Given the description of an element on the screen output the (x, y) to click on. 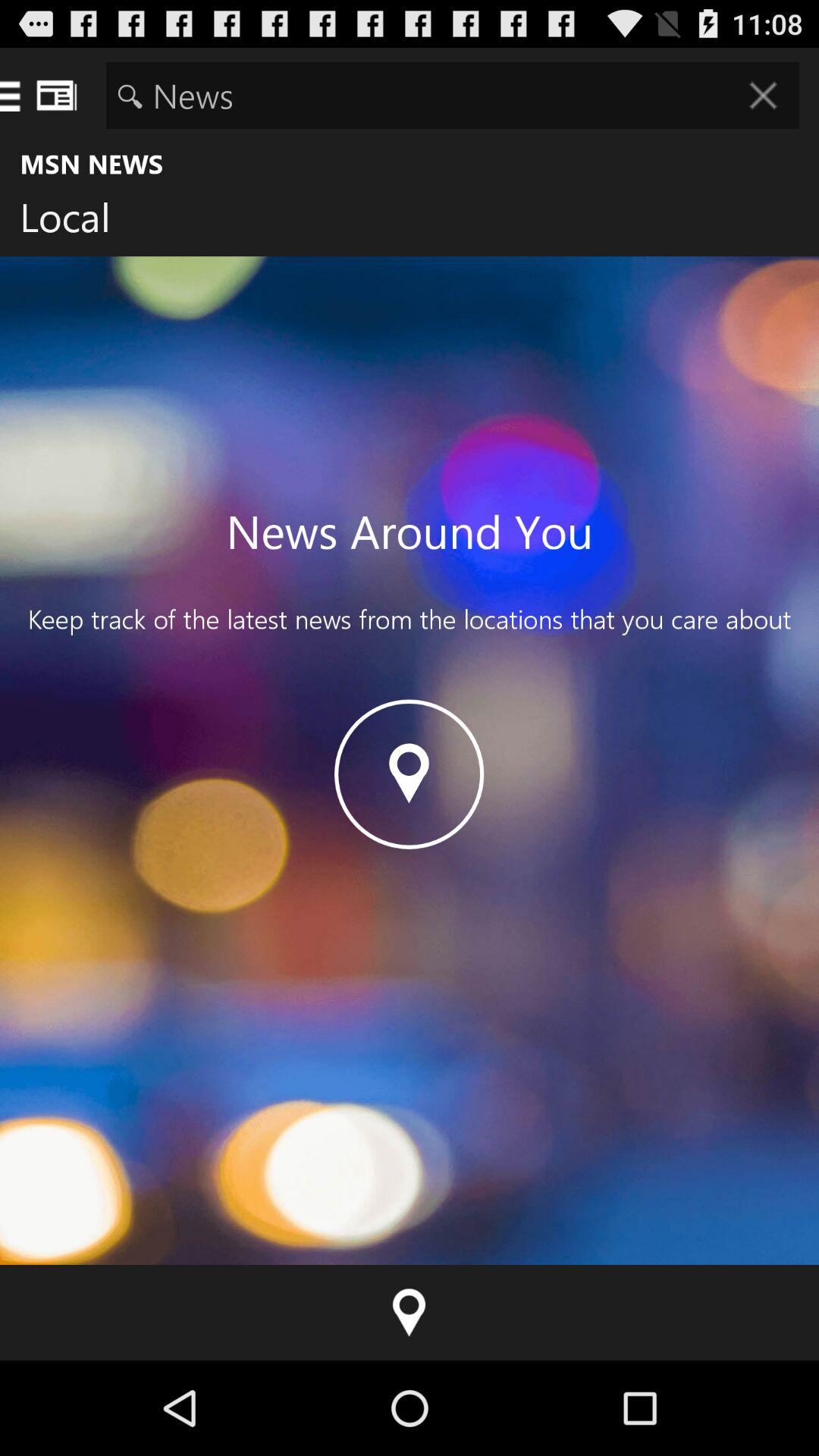
turn on the item at the bottom (409, 1312)
